Given the description of an element on the screen output the (x, y) to click on. 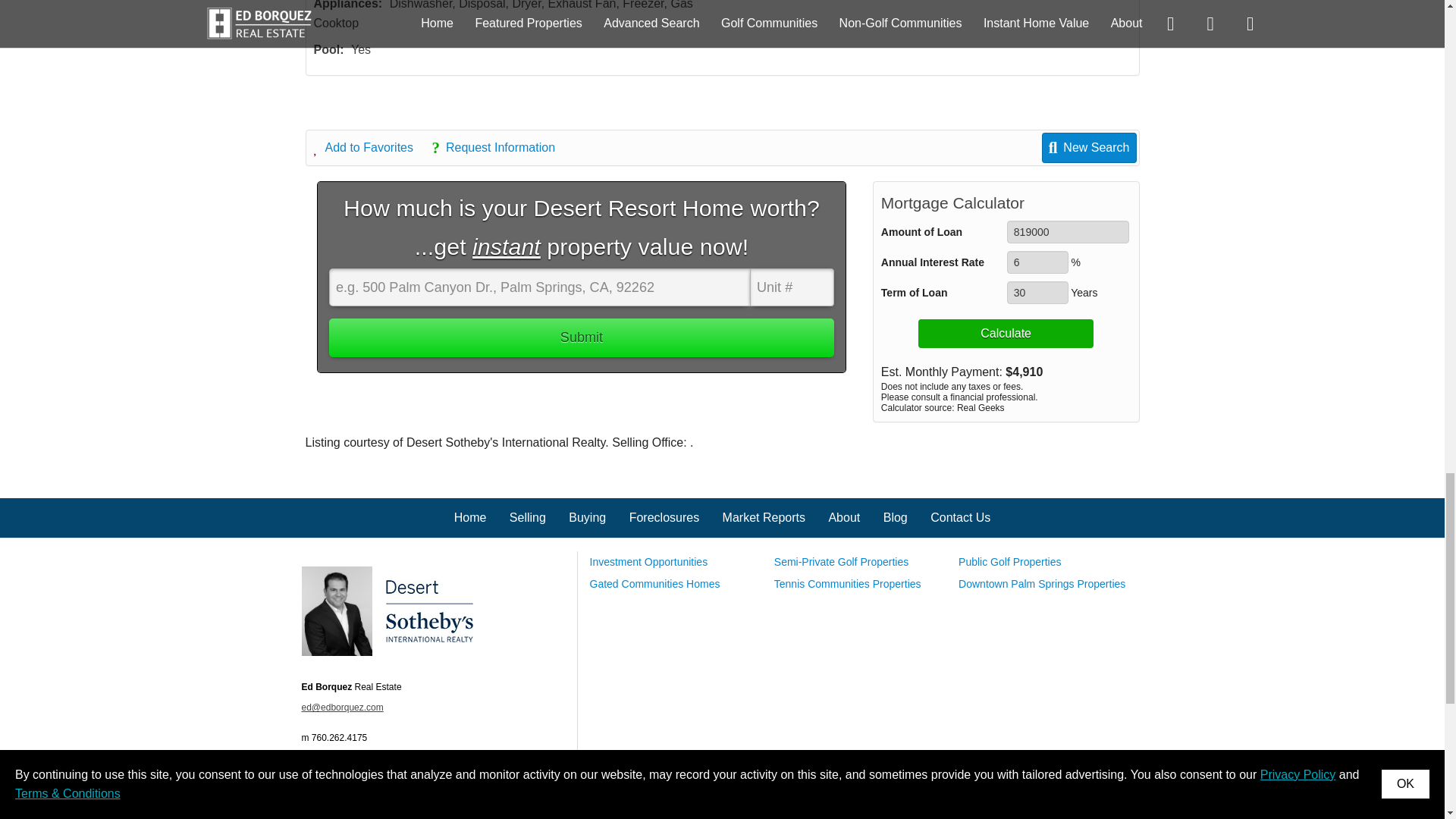
30 (1037, 292)
819000 (1068, 231)
6 (1037, 261)
